Given the description of an element on the screen output the (x, y) to click on. 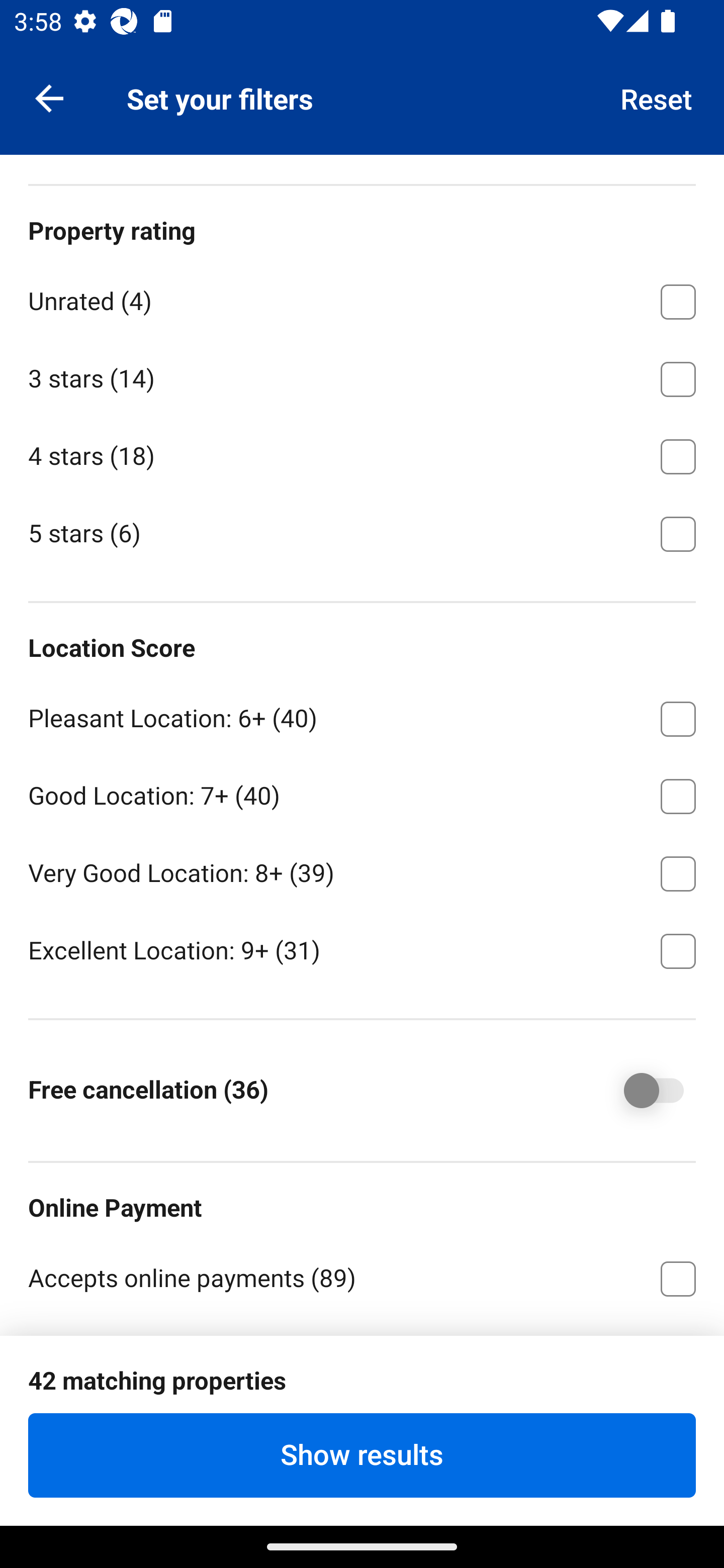
Navigate up (49, 97)
Reset (656, 97)
Unrated ⁦(4) (361, 298)
3 stars ⁦(14) (361, 375)
4 stars ⁦(18) (361, 452)
5 stars ⁦(6) (361, 532)
Pleasant Location: 6+ ⁦(40) (361, 715)
Good Location: 7+ ⁦(40) (361, 792)
Very Good Location: 8+ ⁦(39) (361, 870)
Excellent Location: 9+ ⁦(31) (361, 949)
Free cancellation ⁦(36) (639, 1090)
Accepts online payments ⁦(89) (361, 1277)
Show results (361, 1454)
